Given the description of an element on the screen output the (x, y) to click on. 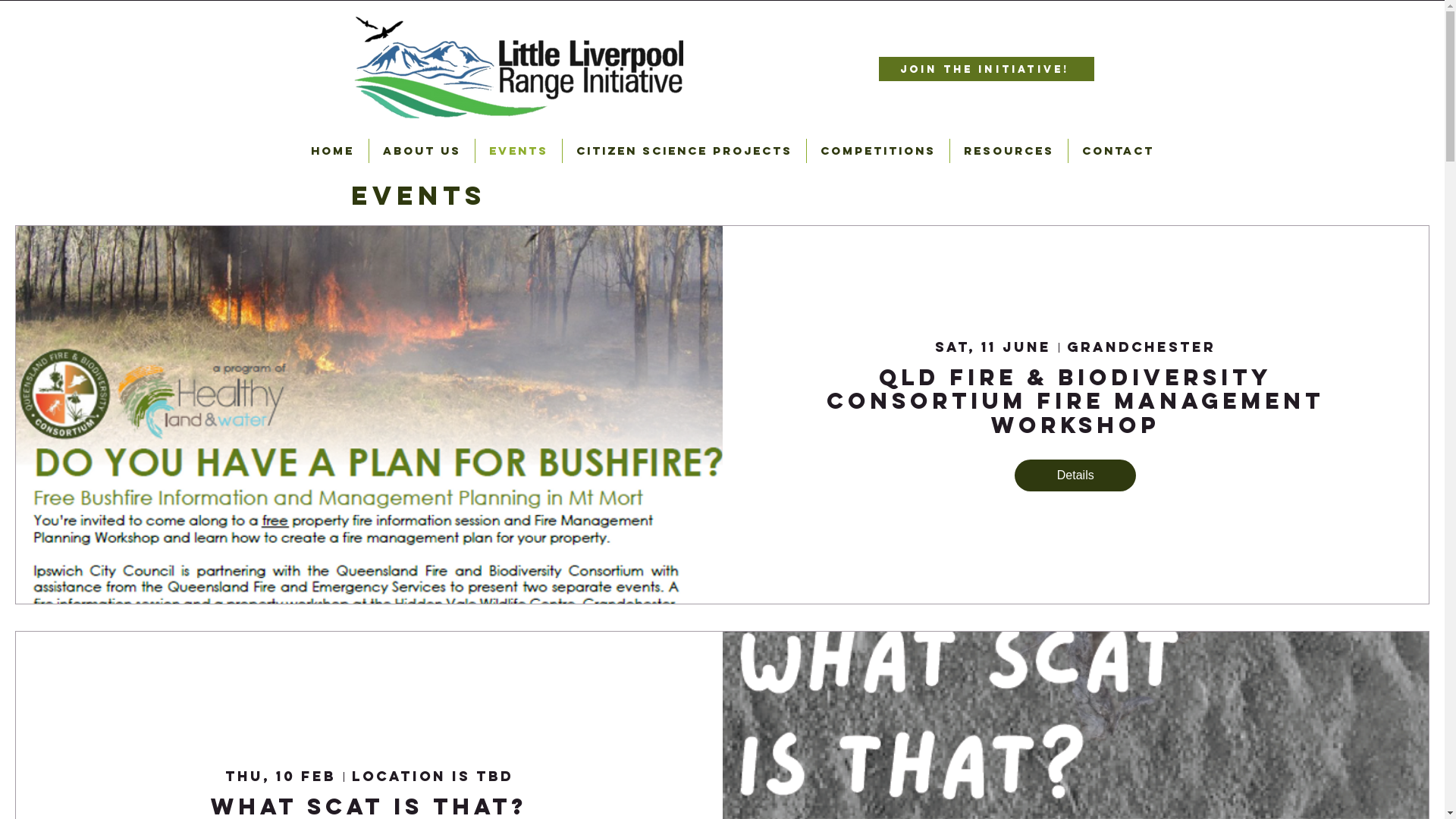
What Scat is that? Element type: text (368, 806)
Home Element type: text (332, 150)
Contact Element type: text (1117, 150)
Details Element type: text (1074, 475)
Events Element type: text (517, 150)
Qld Fire & Biodiversity Consortium Fire Management Workshop Element type: text (1074, 400)
Competitions Element type: text (877, 150)
Citizen Science Projects Element type: text (684, 150)
Resources Element type: text (1007, 150)
About us Element type: text (420, 150)
Join the initiative! Element type: text (985, 68)
